Given the description of an element on the screen output the (x, y) to click on. 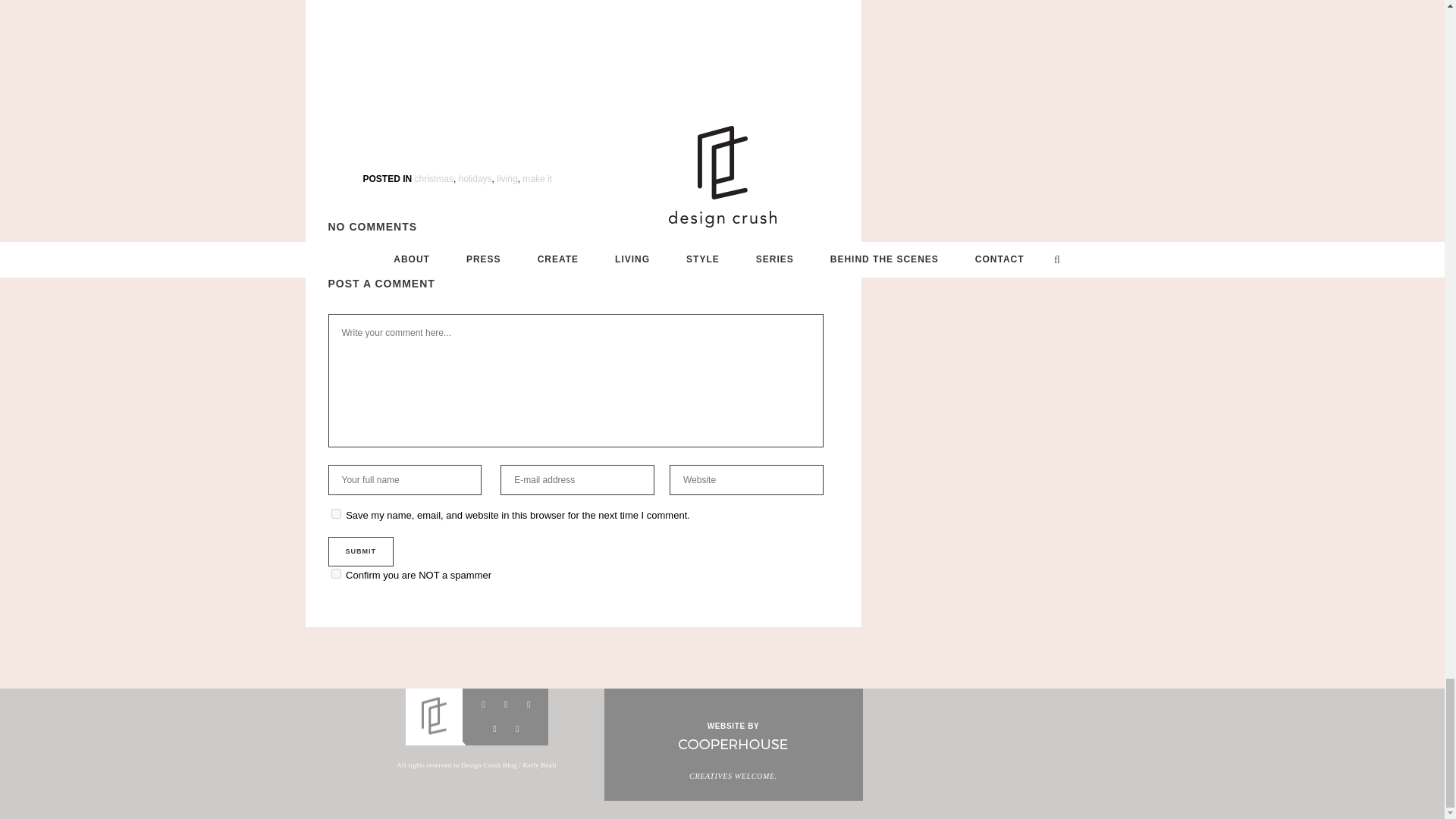
Submit (360, 551)
on (335, 573)
yes (335, 513)
